Given the description of an element on the screen output the (x, y) to click on. 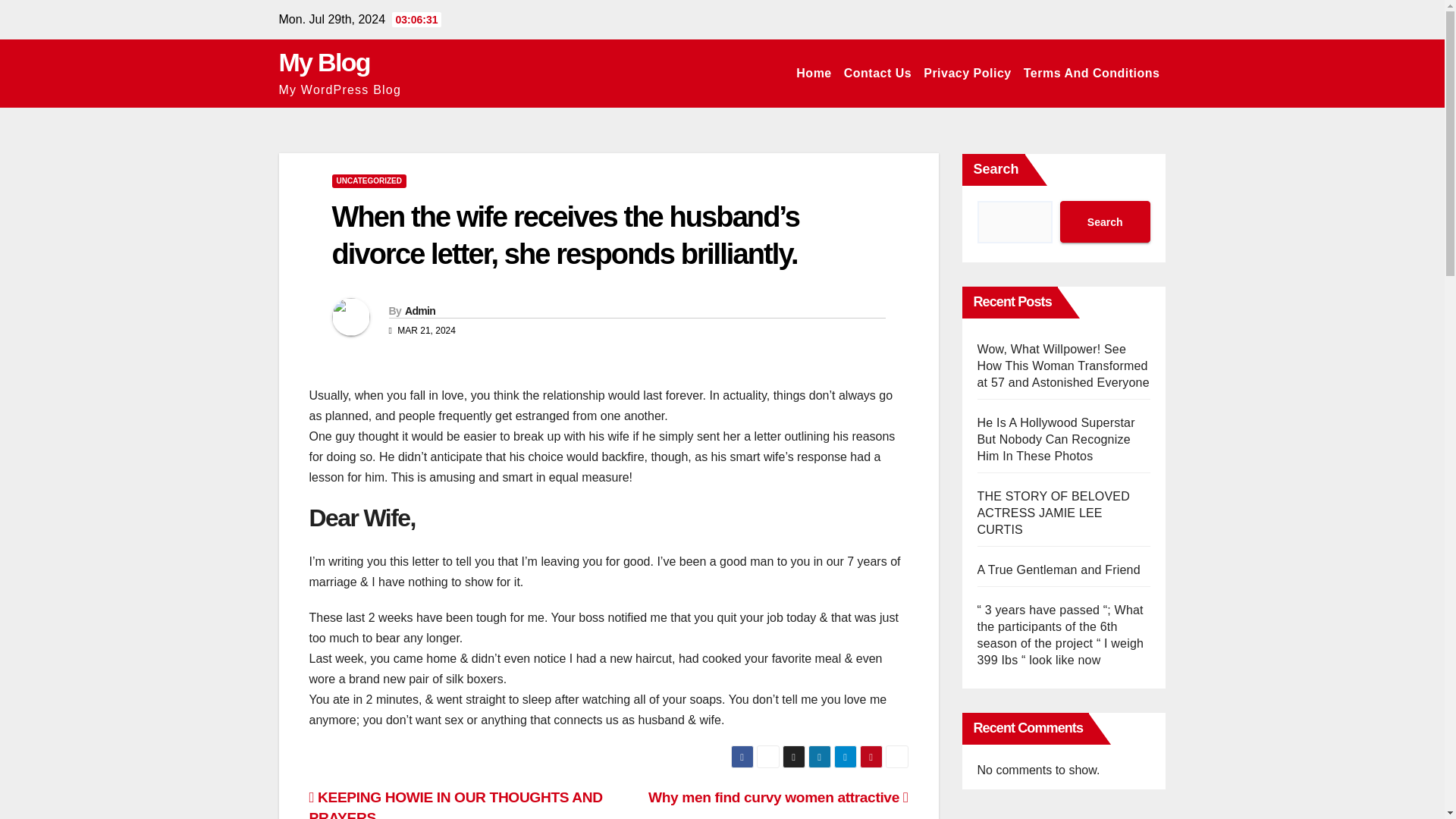
Home (813, 73)
UNCATEGORIZED (368, 181)
Why men find curvy women attractive (777, 797)
KEEPING HOWIE IN OUR THOUGHTS AND PRAYERS (455, 804)
Search (1104, 221)
Privacy Policy (967, 73)
Terms And Conditions (1091, 73)
My Blog (324, 61)
THE STORY OF BELOVED ACTRESS JAMIE LEE CURTIS (1052, 512)
Contact Us (877, 73)
Admin (419, 310)
Home (813, 73)
